Given the description of an element on the screen output the (x, y) to click on. 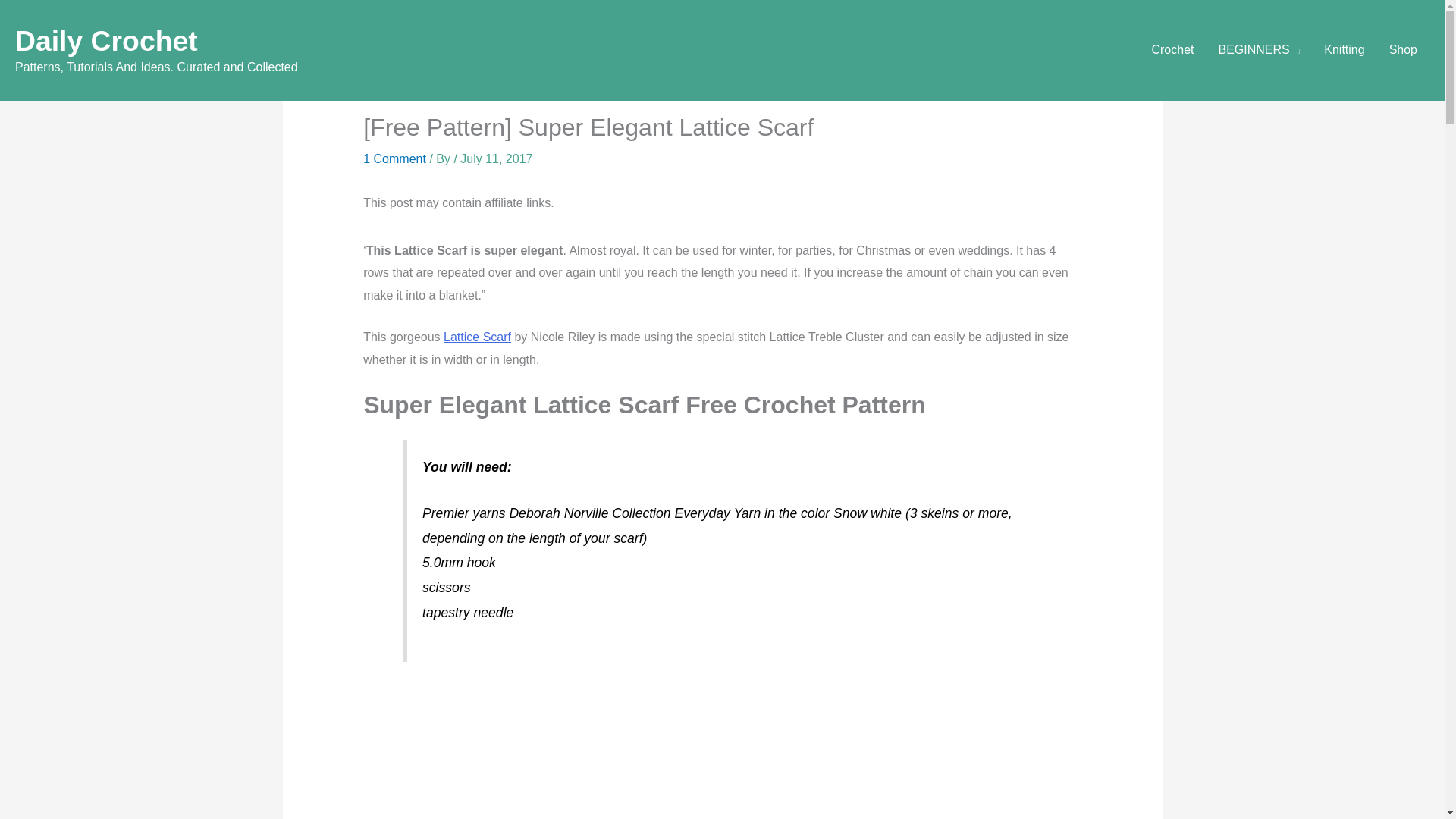
Knitting (1343, 49)
BEGINNERS (1258, 49)
Lattice Scarf (477, 336)
Shop (1403, 49)
Crochet (1171, 49)
Daily Crochet (106, 40)
1 Comment (394, 158)
